Given the description of an element on the screen output the (x, y) to click on. 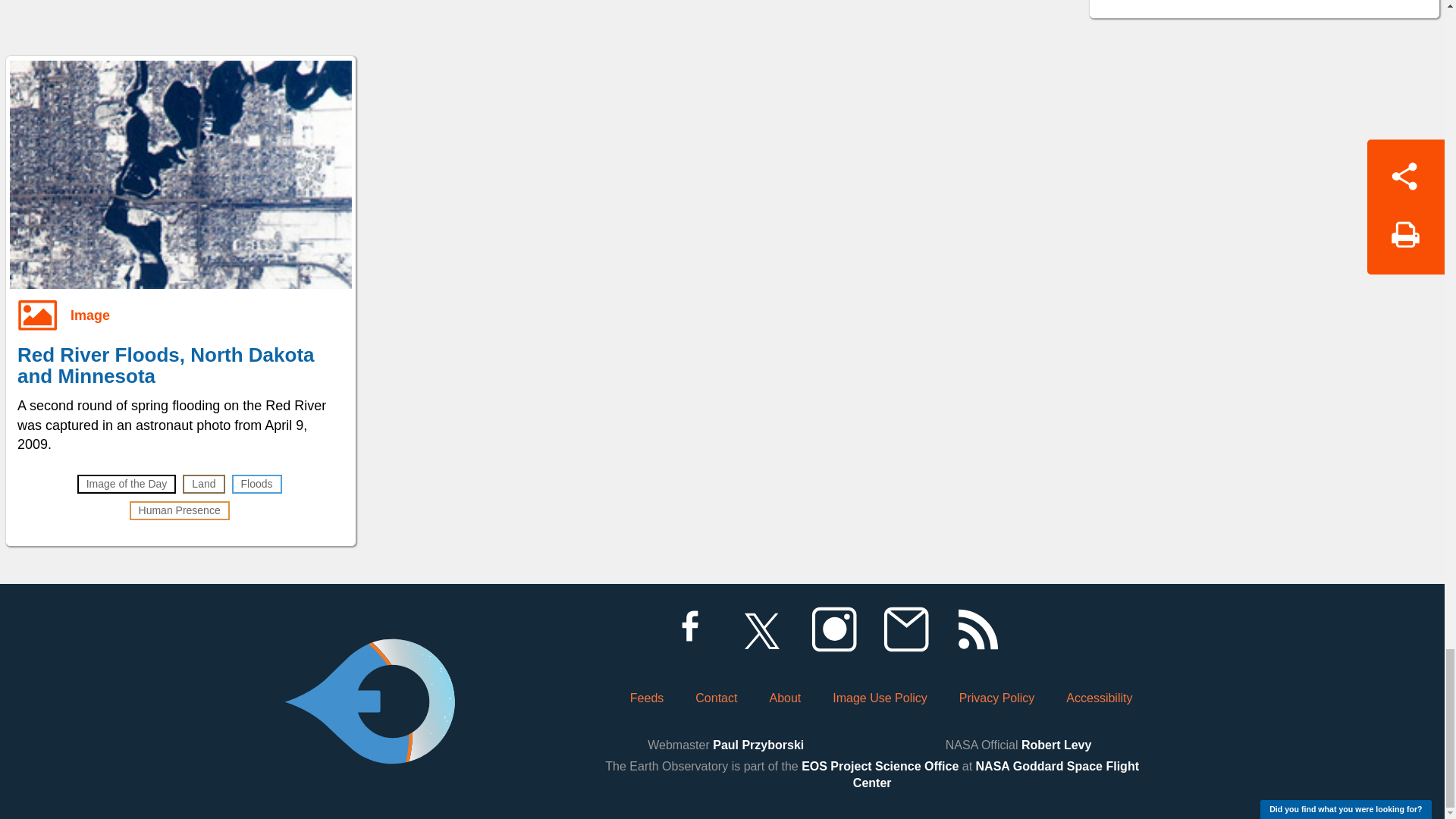
Instagram (833, 629)
Earth Observatory (369, 659)
RSS (977, 629)
Subscribe (905, 629)
Twitter (761, 629)
Facebook (689, 629)
